Given the description of an element on the screen output the (x, y) to click on. 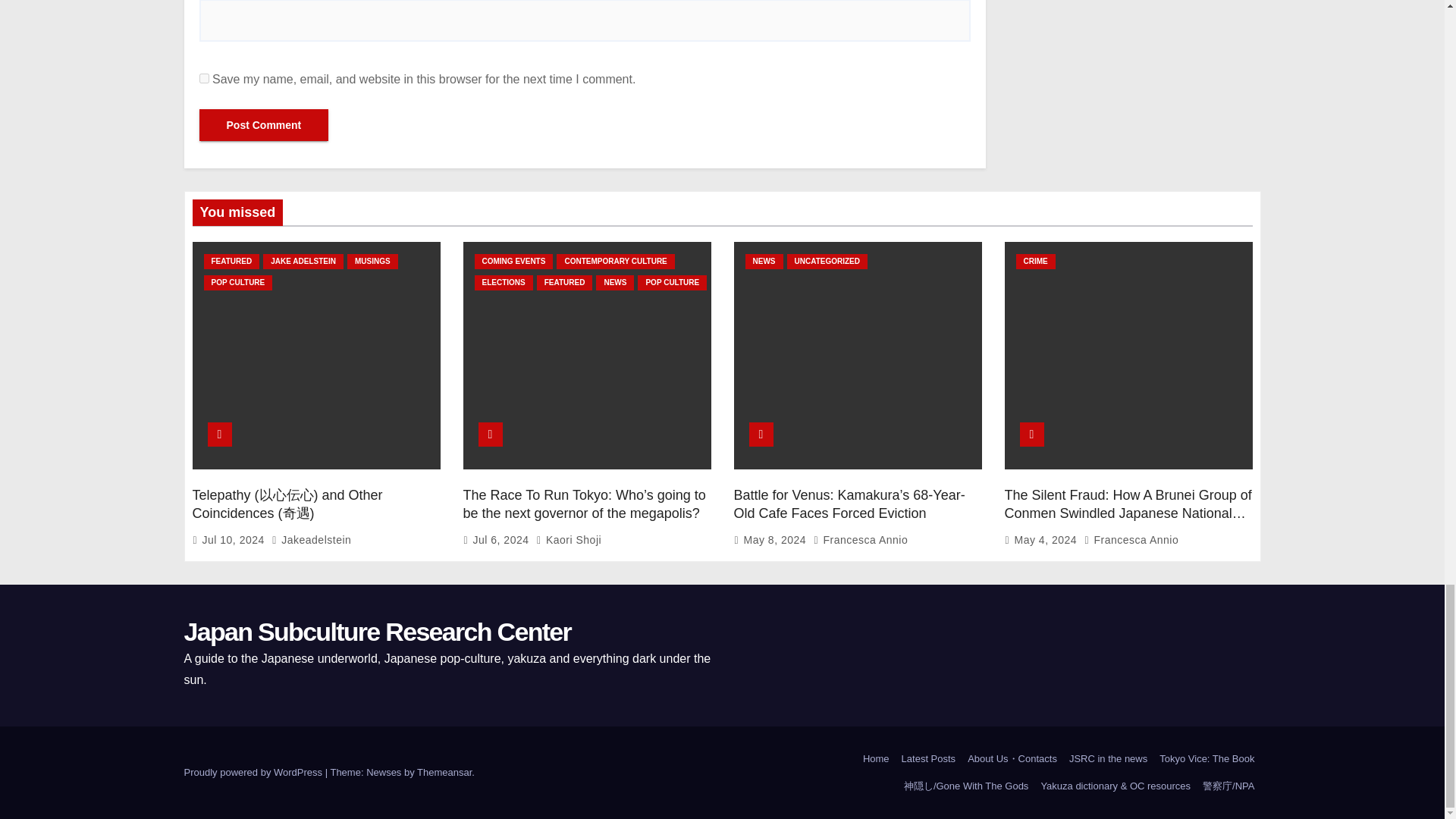
Post Comment (263, 124)
Home (876, 759)
yes (203, 78)
